Given the description of an element on the screen output the (x, y) to click on. 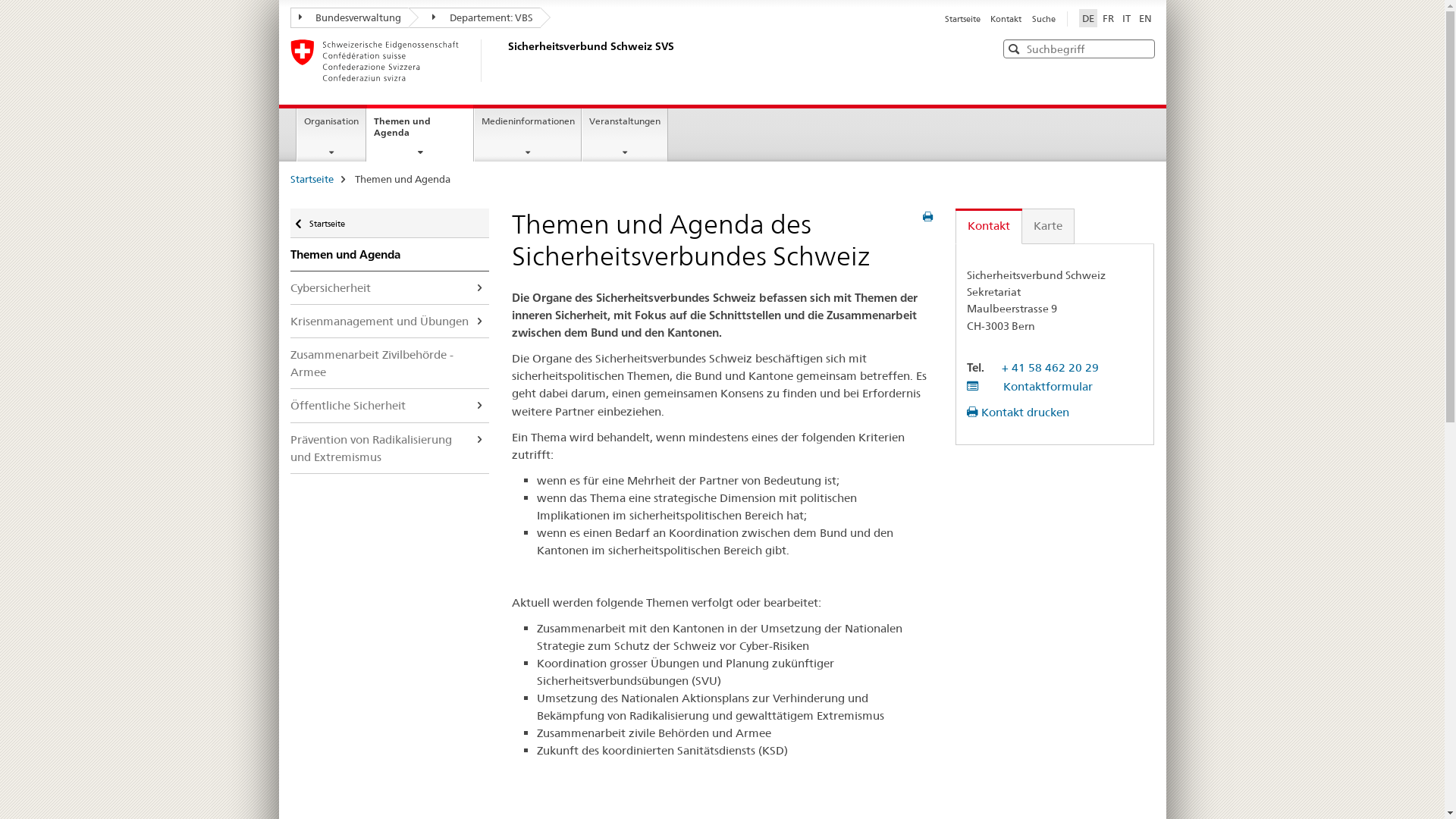
Organisation Element type: text (331, 134)
Clear Element type: text (1140, 48)
Karte Element type: text (1048, 226)
Medieninformationen Element type: text (527, 134)
Themen und Agenda
current page Element type: text (420, 132)
Kontakt drucken Element type: text (1017, 411)
Veranstaltungen Element type: text (624, 134)
Startseite Element type: text (310, 178)
Kontakt Element type: text (988, 226)
DE
selected Element type: text (1087, 18)
Startseite Element type: text (962, 18)
Kontakt Element type: text (1005, 18)
print preview Element type: text (927, 216)
Kontaktformular Element type: text (1029, 386)
+ 41 58 462 20 29 Element type: text (1049, 367)
FR Element type: text (1108, 18)
Bundesverwaltung Element type: text (348, 17)
EN Element type: text (1144, 18)
Departement: VBS Element type: text (474, 17)
Cybersicherheit Element type: text (389, 287)
IT Element type: text (1126, 18)
Suche Element type: text (1042, 18)
Sicherheitsverbund Schweiz SVS Element type: text (505, 60)
